Given the description of an element on the screen output the (x, y) to click on. 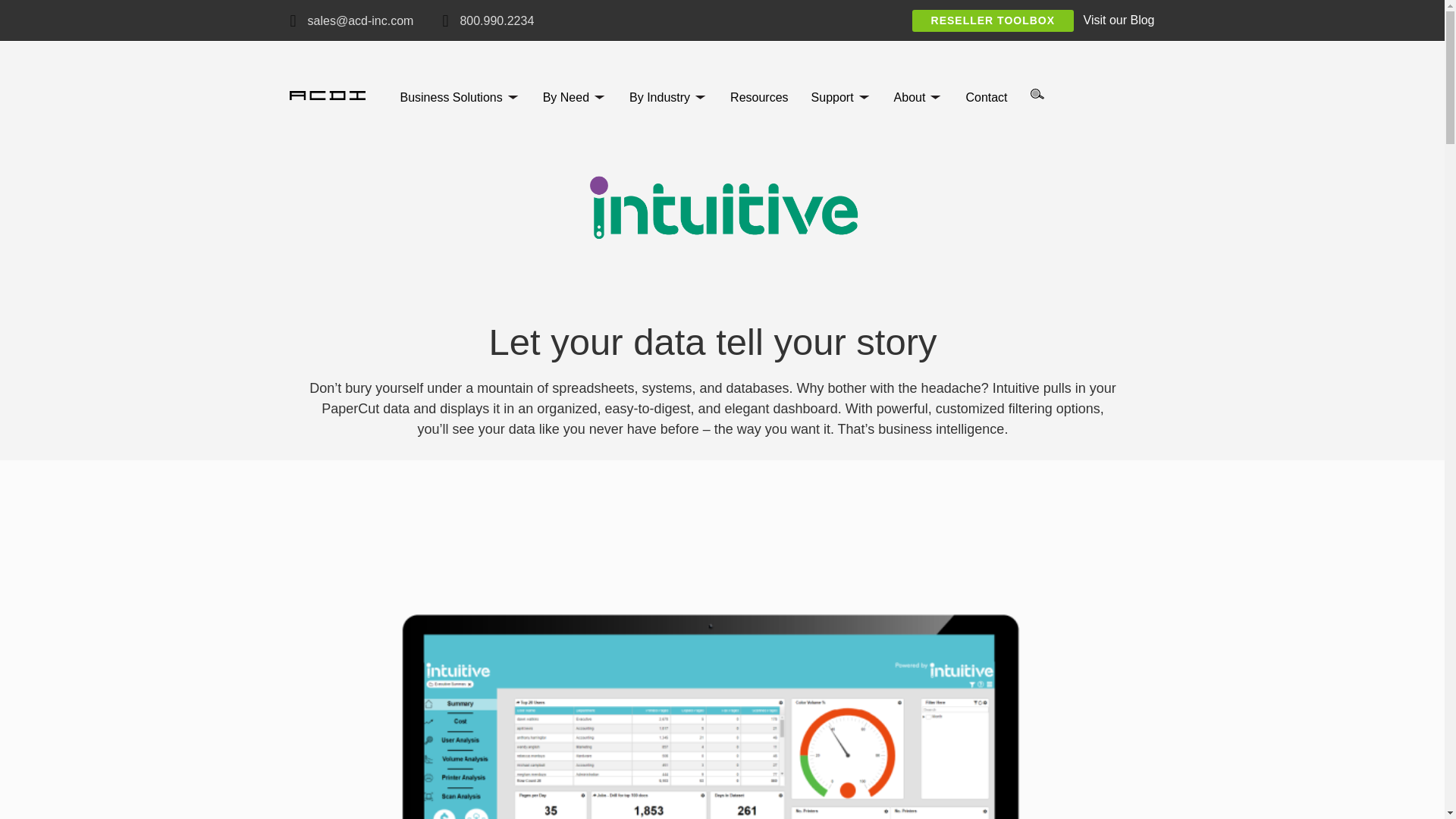
RESELLER TOOLBOX (993, 20)
By Industry (659, 96)
Support (831, 96)
By Need (566, 96)
Resources (758, 96)
Business Solutions (450, 96)
Visit our Blog (1118, 19)
800.990.2234 (497, 20)
